Given the description of an element on the screen output the (x, y) to click on. 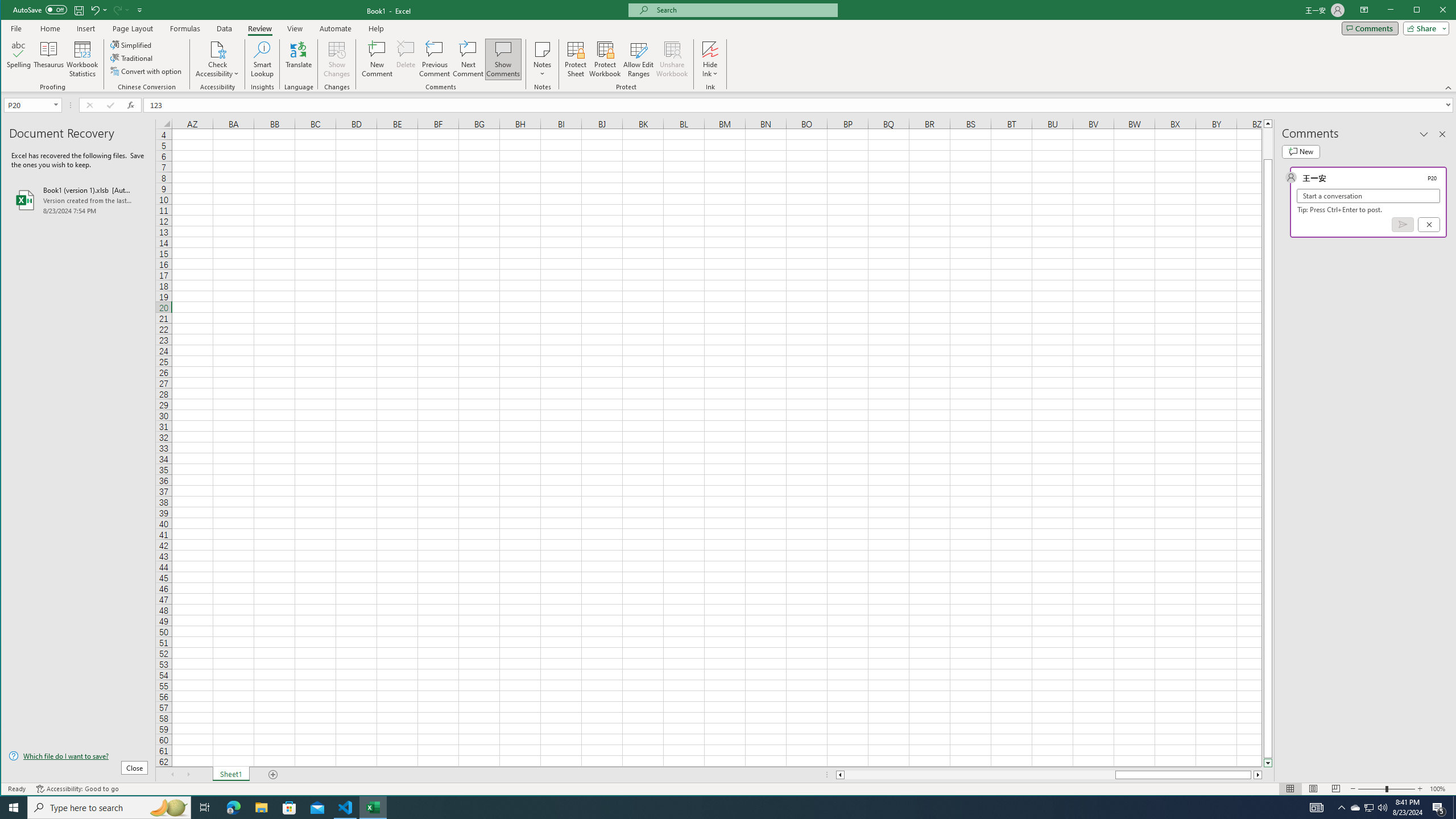
Search highlights icon opens search home window (167, 807)
Next Comment (467, 59)
